Given the description of an element on the screen output the (x, y) to click on. 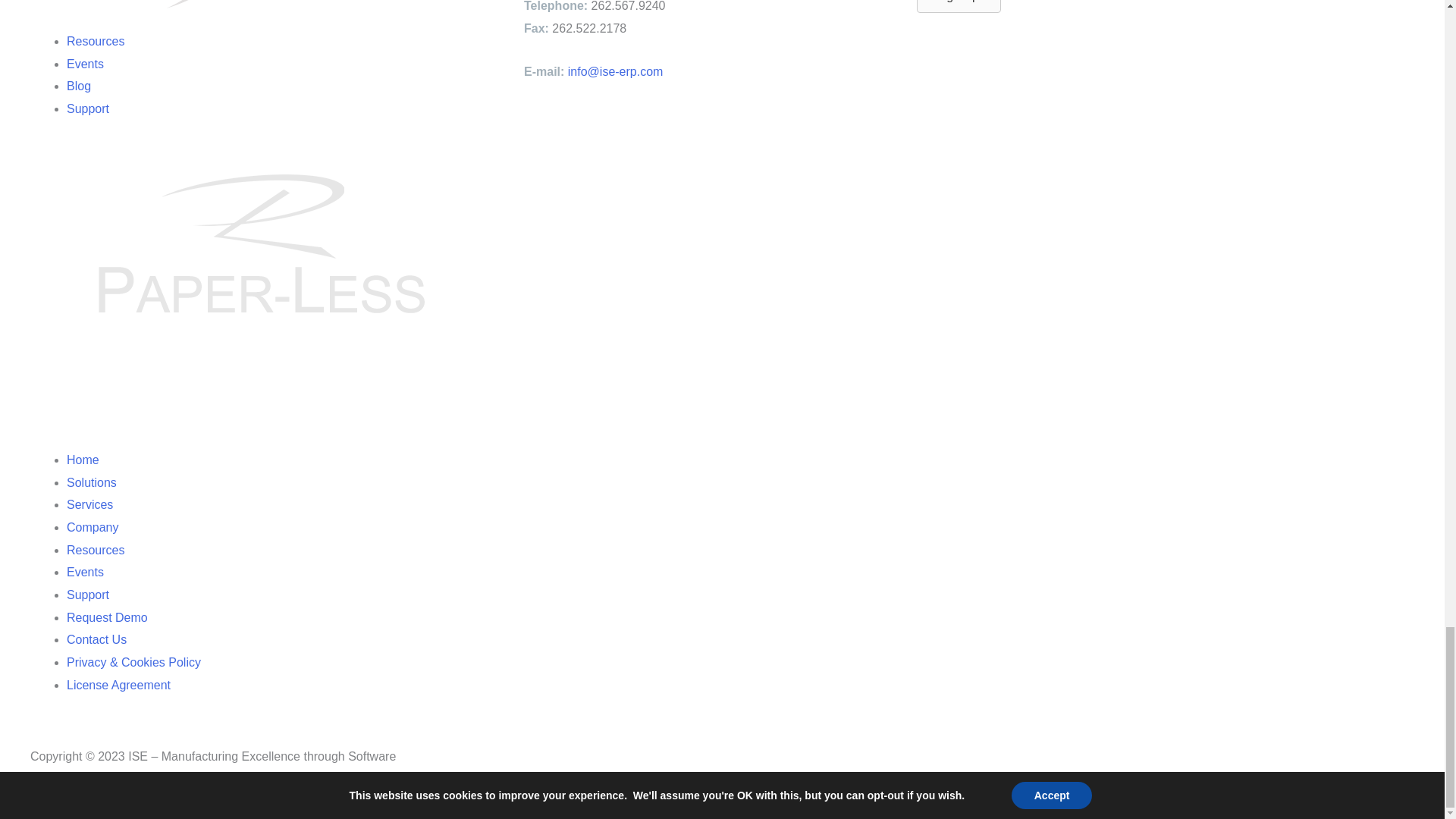
ISE-Logo-Reversed (194, 19)
